Given the description of an element on the screen output the (x, y) to click on. 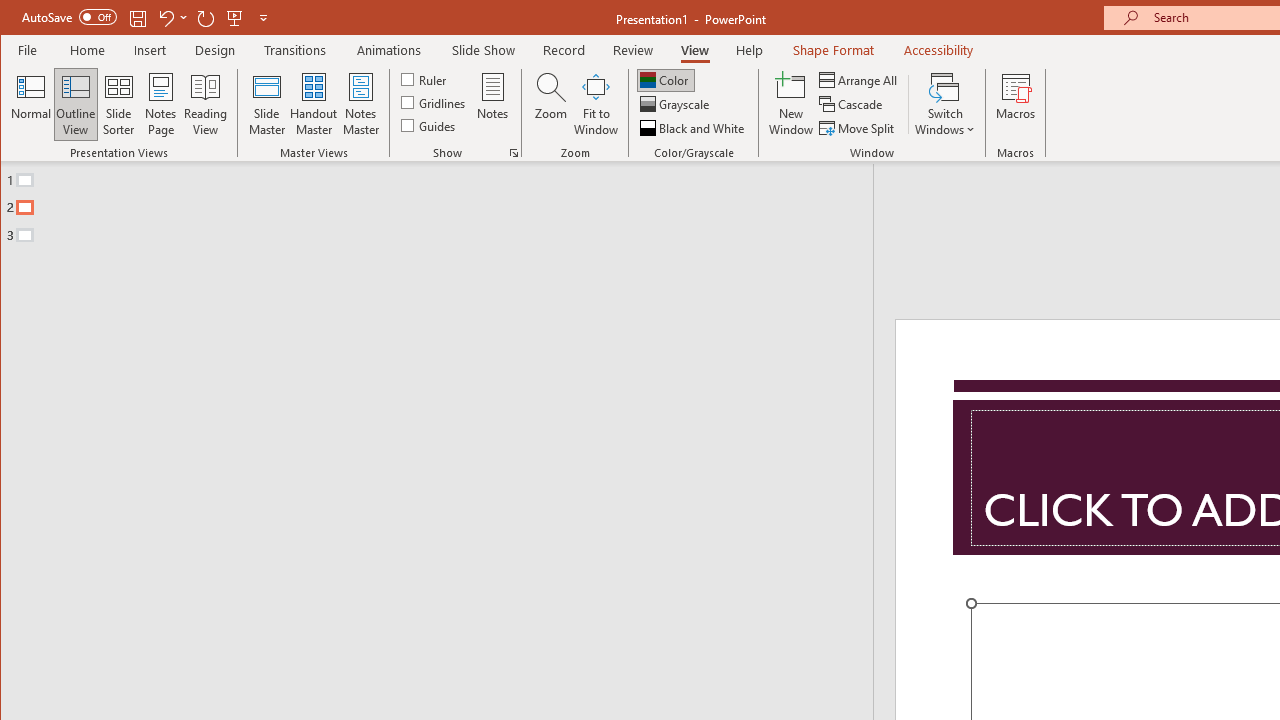
System (18, 18)
Grid Settings... (513, 152)
Accessibility (938, 50)
Notes (493, 104)
Save (138, 17)
AutoSave (68, 16)
Shape Format (833, 50)
Gridlines (435, 101)
Design (215, 50)
Switch Windows (944, 104)
Record (563, 50)
Cascade (852, 103)
Slide Show (482, 50)
Undo (171, 17)
Ruler (425, 78)
